Given the description of an element on the screen output the (x, y) to click on. 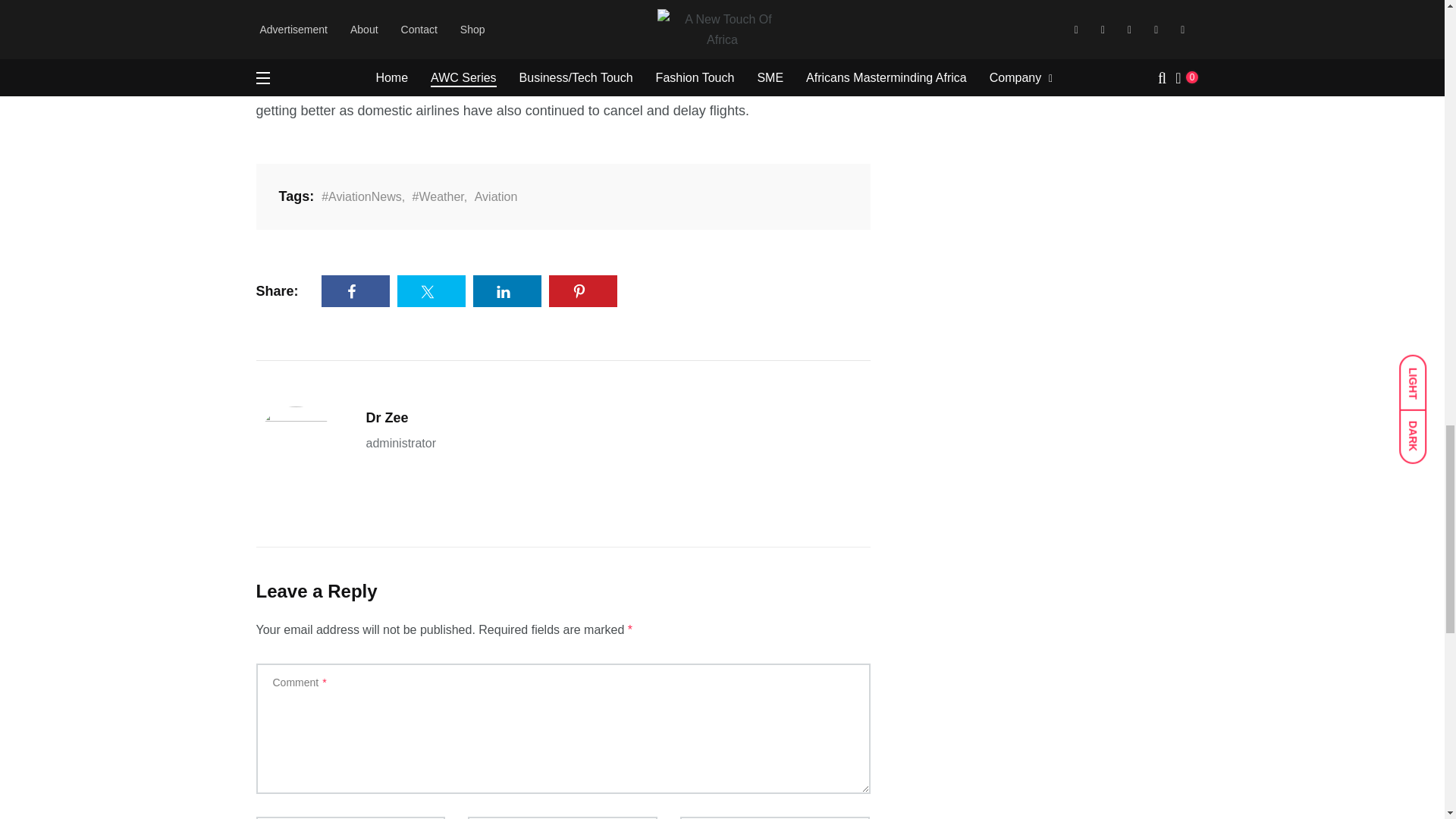
Share on Pinterest (582, 290)
Share on Twitter (431, 290)
Share on LinkedIn (507, 290)
Share on Facebook (355, 290)
